Given the description of an element on the screen output the (x, y) to click on. 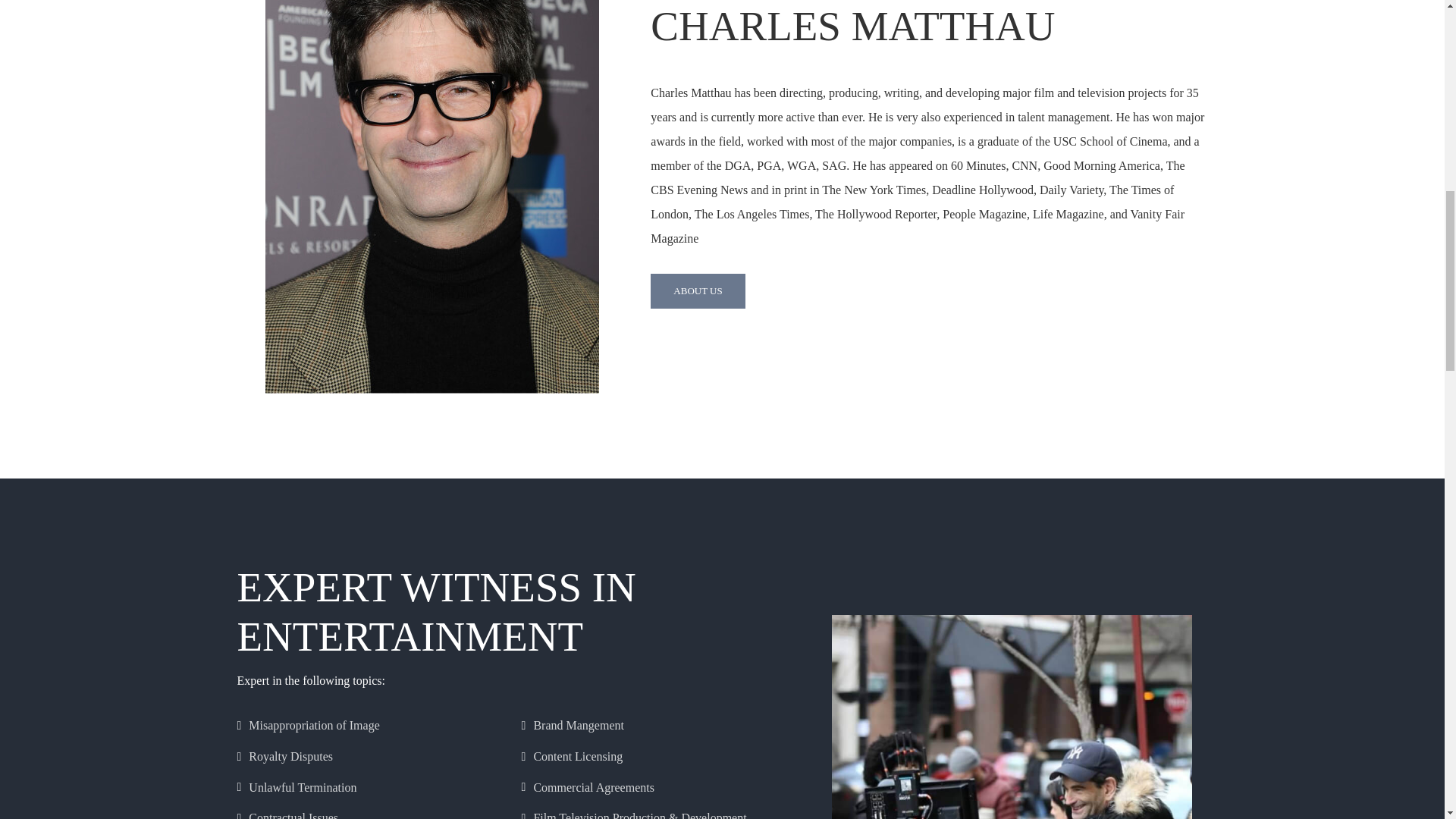
About Us (697, 290)
ABOUT US (697, 290)
